Given the description of an element on the screen output the (x, y) to click on. 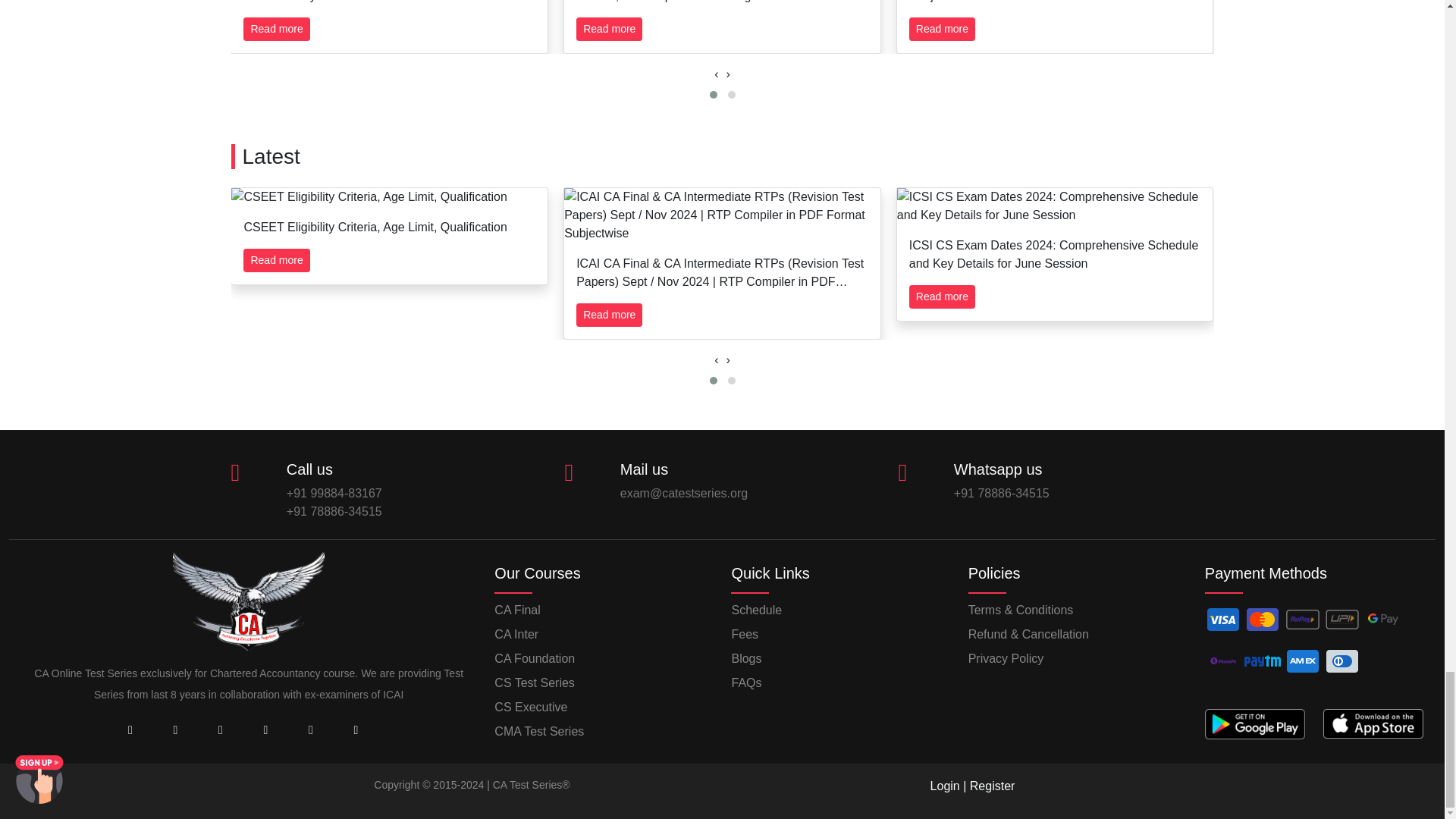
Read more (609, 314)
Read more (609, 28)
Read more (275, 28)
Read more (275, 259)
Read more (941, 28)
Read more (941, 296)
